Given the description of an element on the screen output the (x, y) to click on. 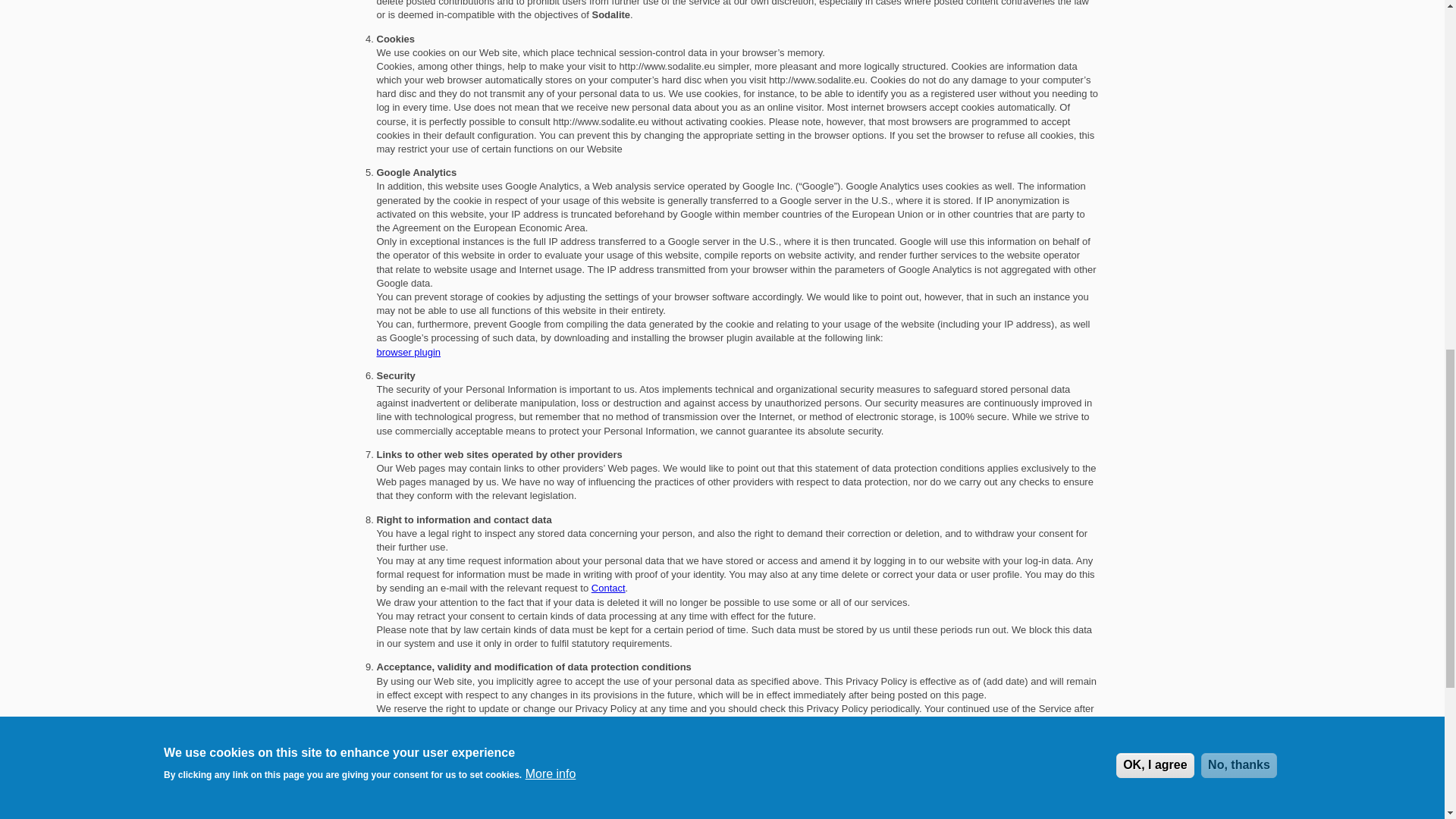
browser plugin (408, 351)
Contact (608, 587)
Contact (621, 816)
